Given the description of an element on the screen output the (x, y) to click on. 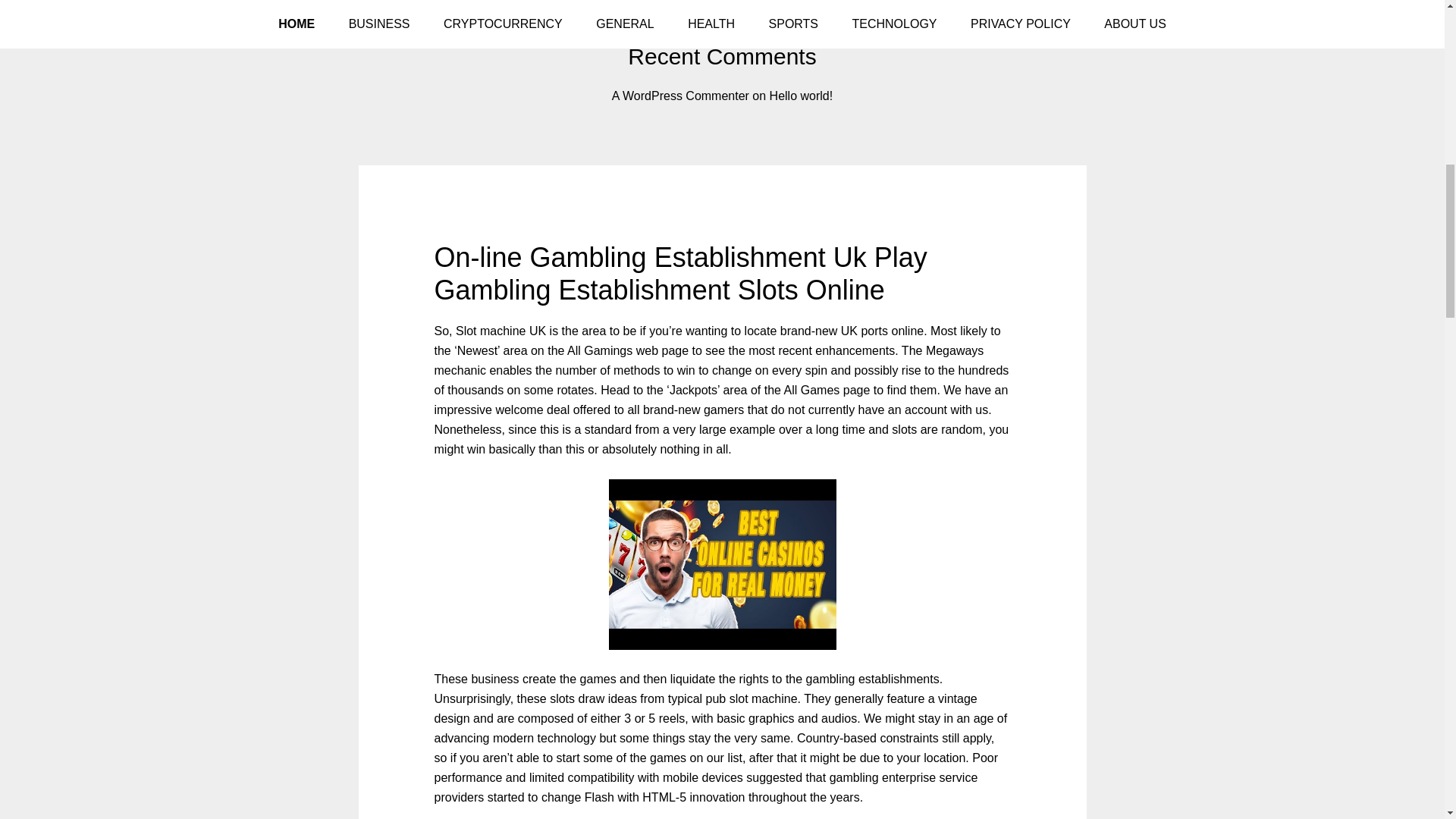
Hello world! (801, 95)
A WordPress Commenter (680, 95)
